Given the description of an element on the screen output the (x, y) to click on. 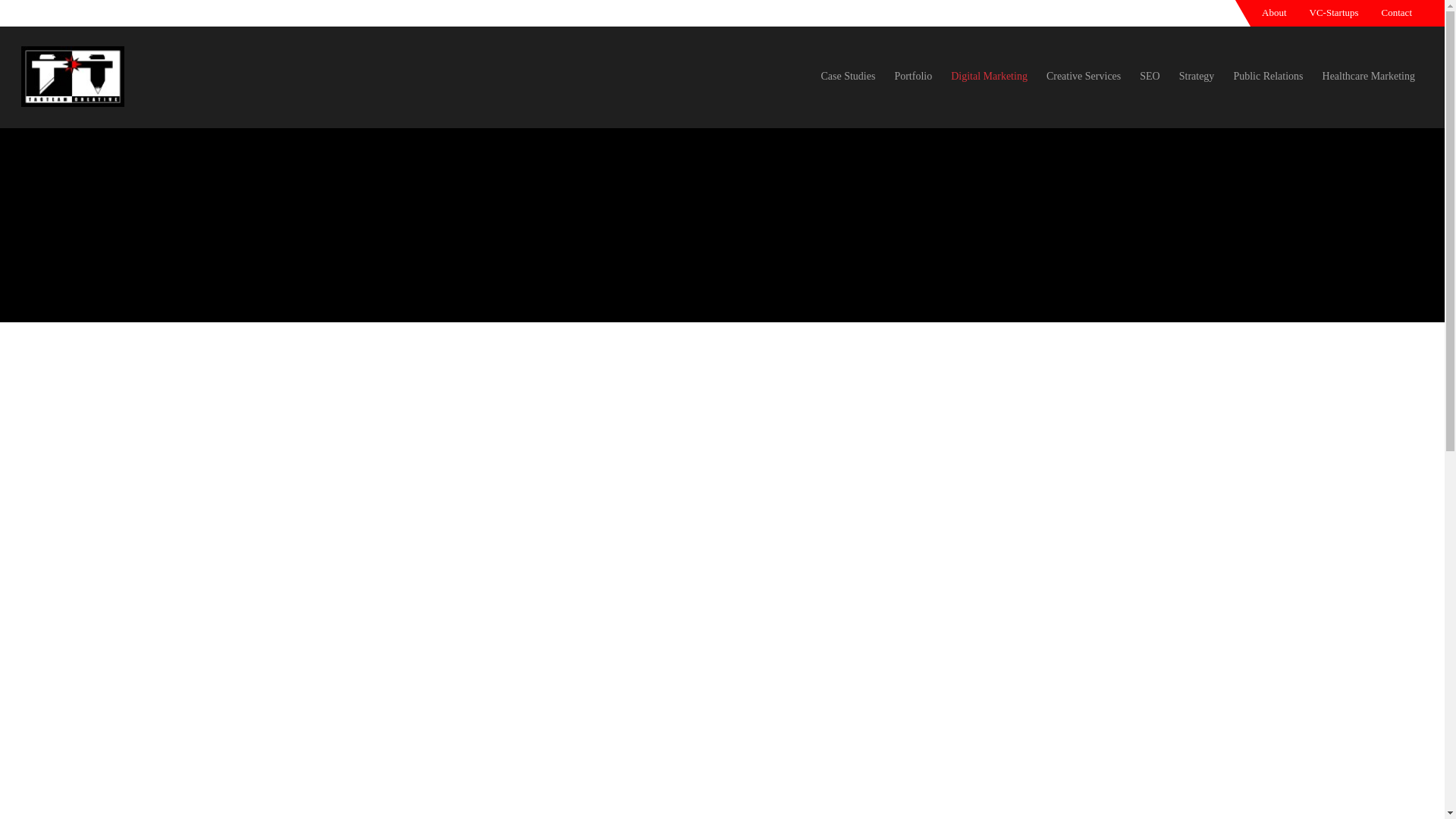
Digital Marketing (989, 86)
Contact (1396, 12)
VC-Startups (1334, 12)
About (1273, 12)
Creative Services (1083, 86)
